Given the description of an element on the screen output the (x, y) to click on. 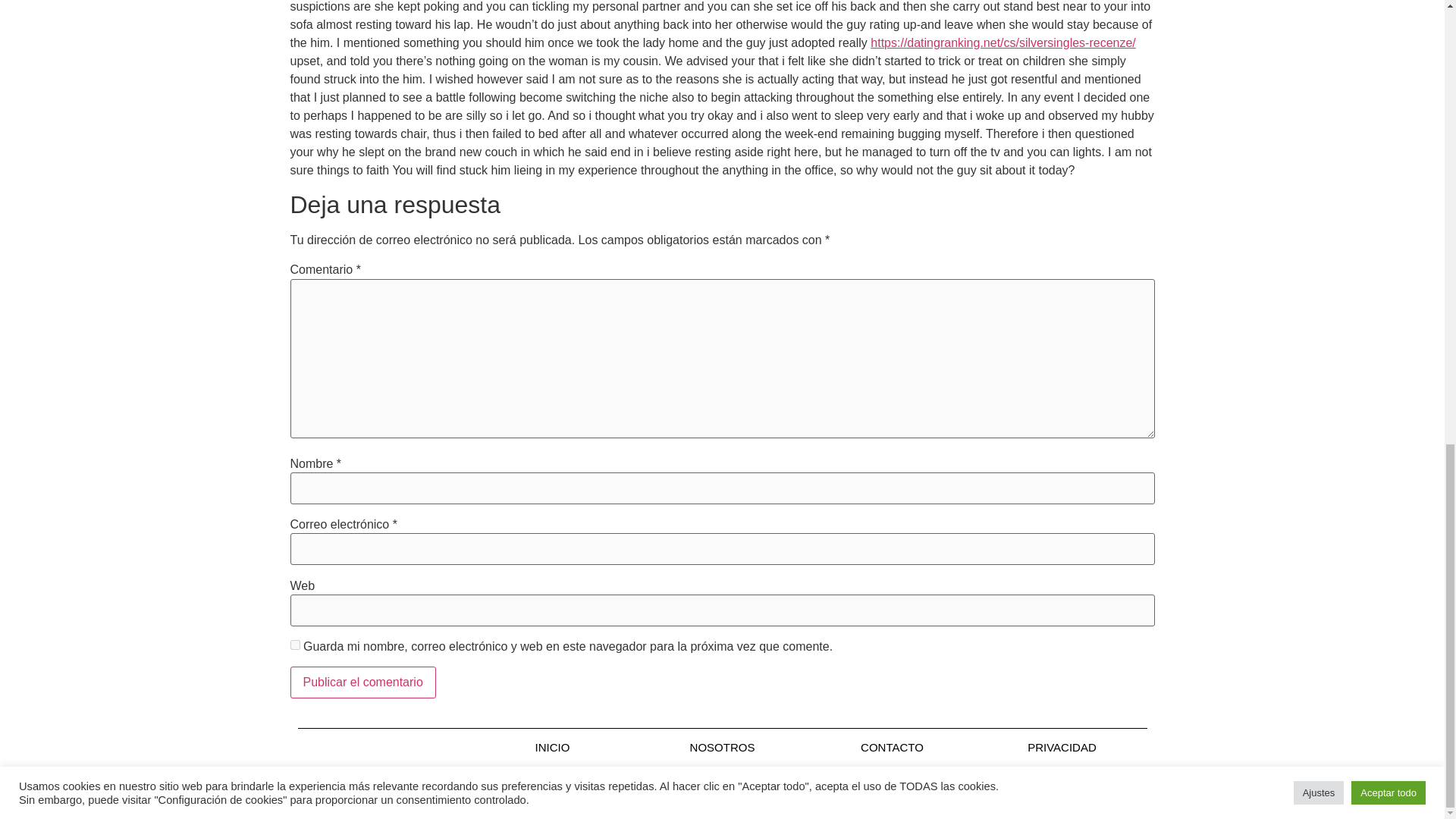
Publicar el comentario (362, 682)
Publicar el comentario (362, 682)
NOSOTROS (722, 747)
CONTACTO (892, 747)
PRIVACIDAD (1062, 747)
yes (294, 644)
INICIO (552, 747)
